Given the description of an element on the screen output the (x, y) to click on. 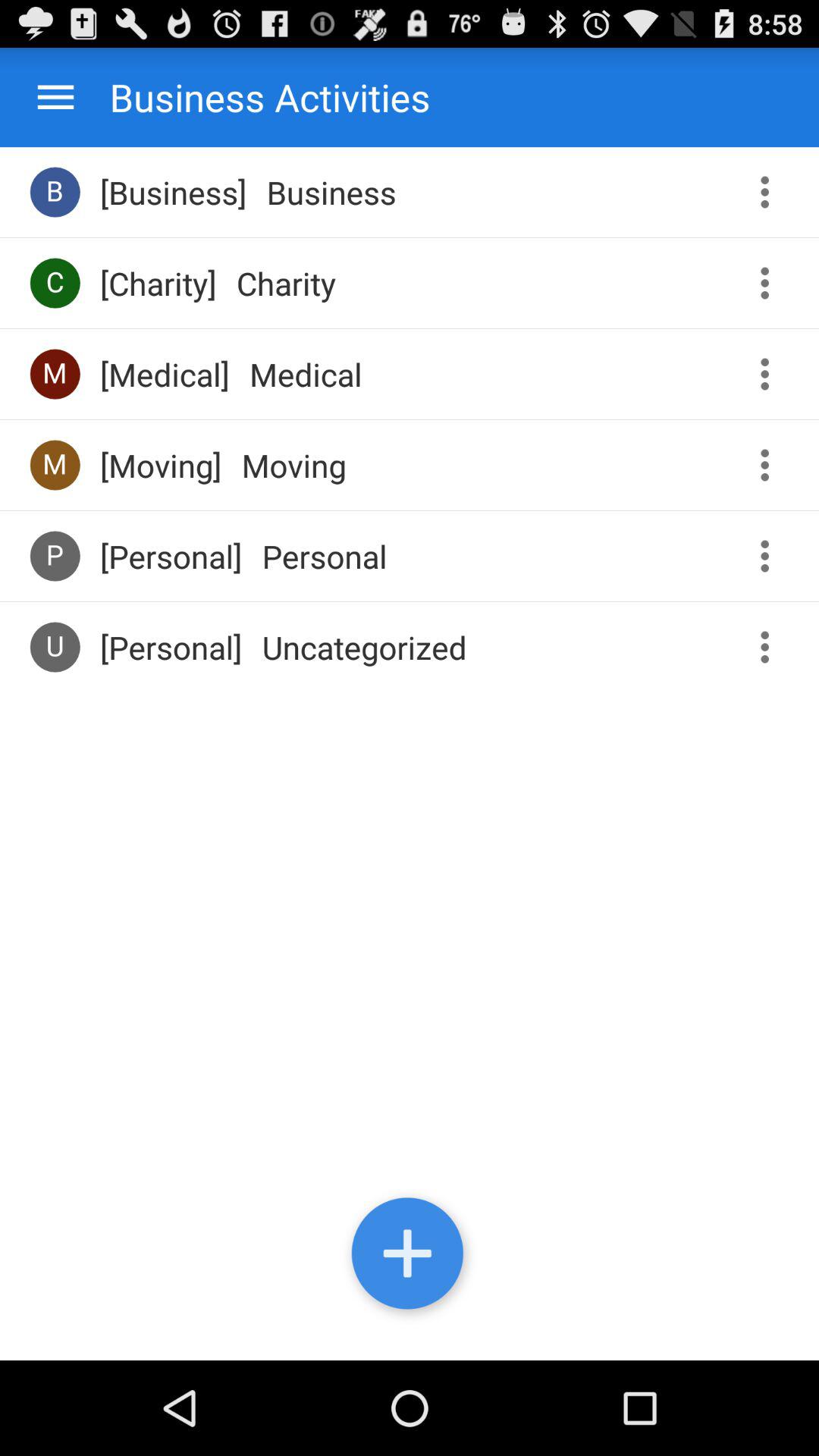
menu (55, 97)
